Given the description of an element on the screen output the (x, y) to click on. 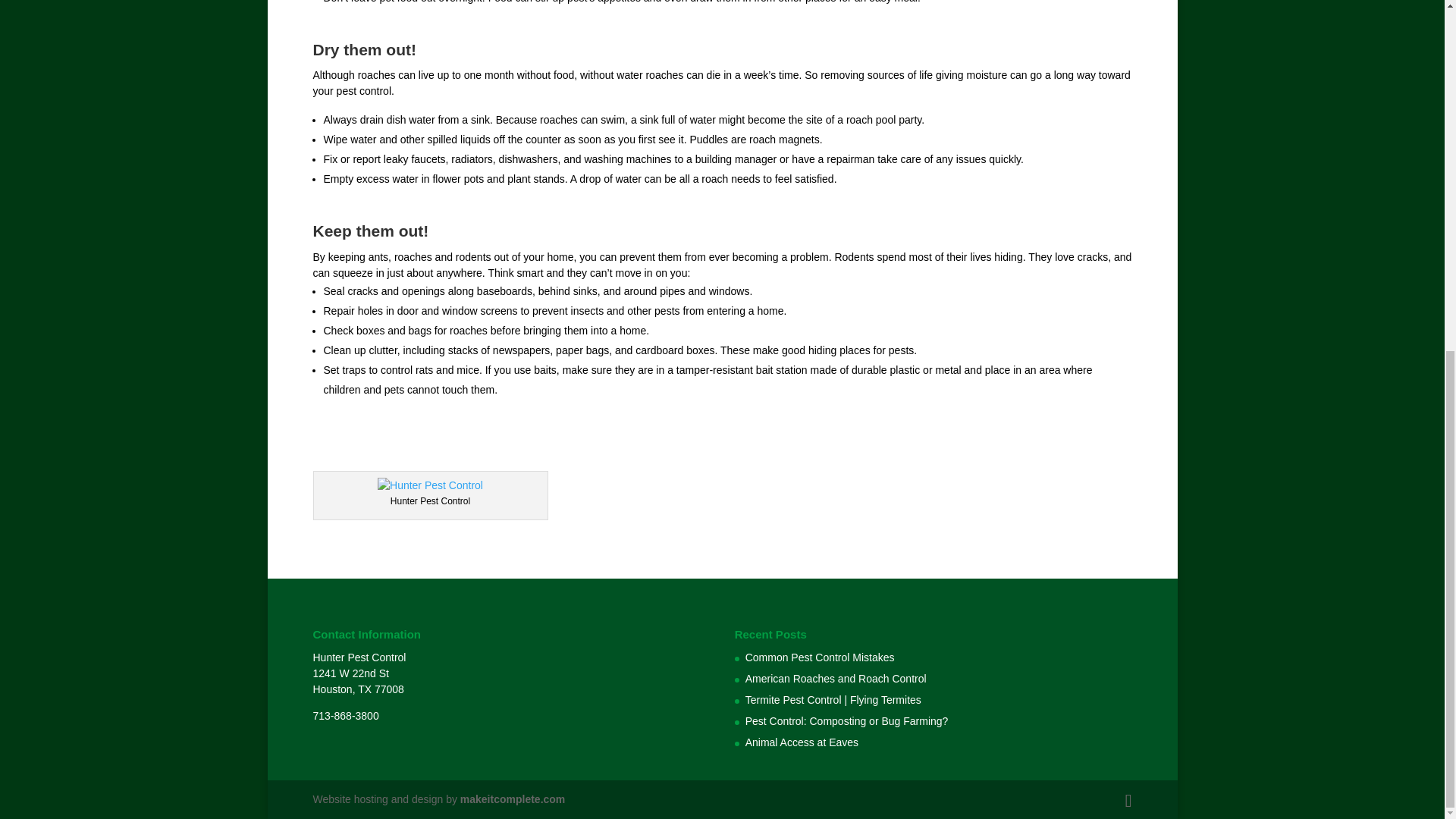
American Roaches and Roach Control (835, 678)
Common Pest Control Mistakes (820, 657)
Animal Access at Eaves (802, 742)
Pest Control: Composting or Bug Farming? (847, 720)
makeitcomplete.com (513, 799)
